Given the description of an element on the screen output the (x, y) to click on. 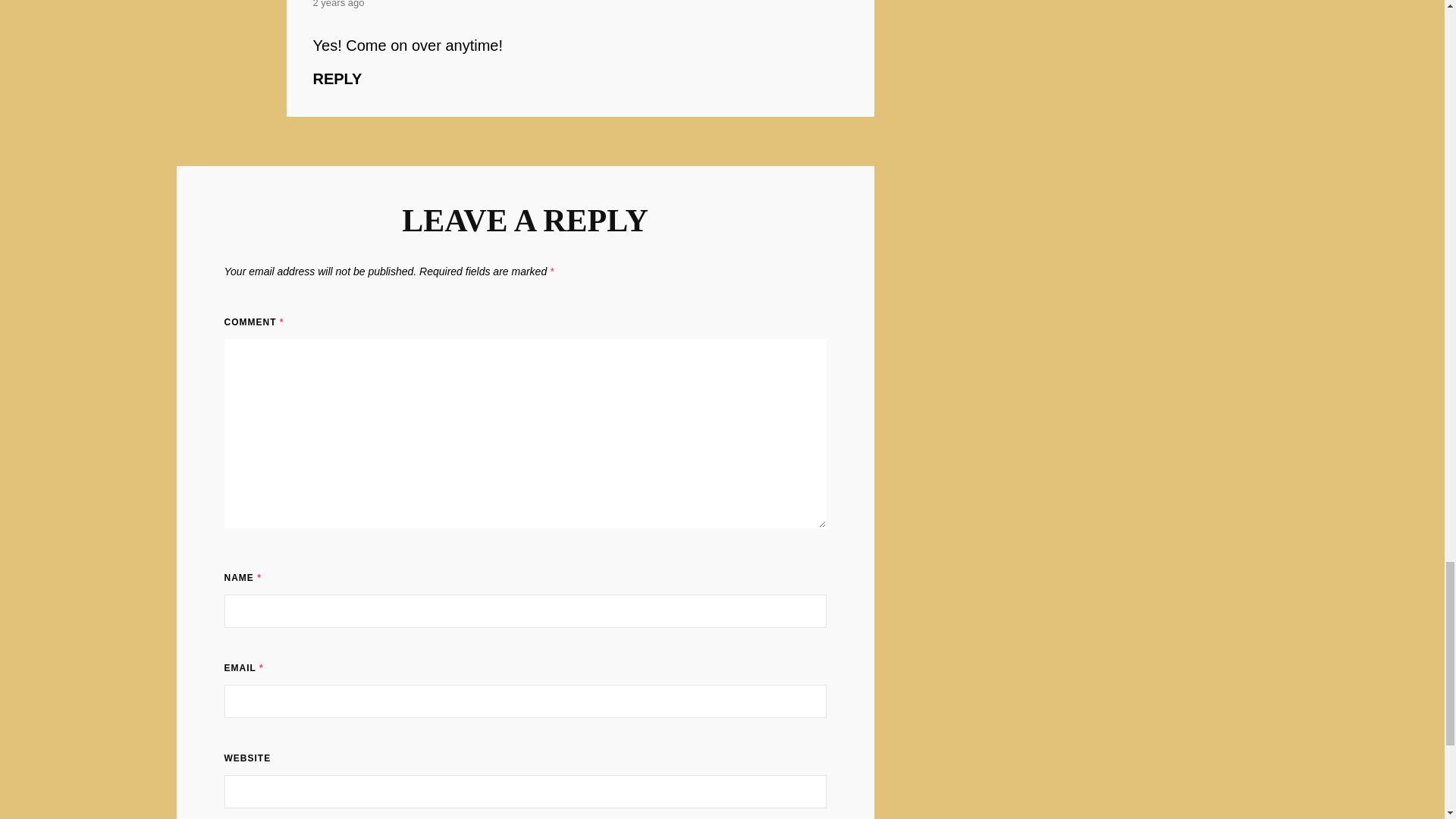
2 years ago (338, 6)
REPLY (337, 78)
